Given the description of an element on the screen output the (x, y) to click on. 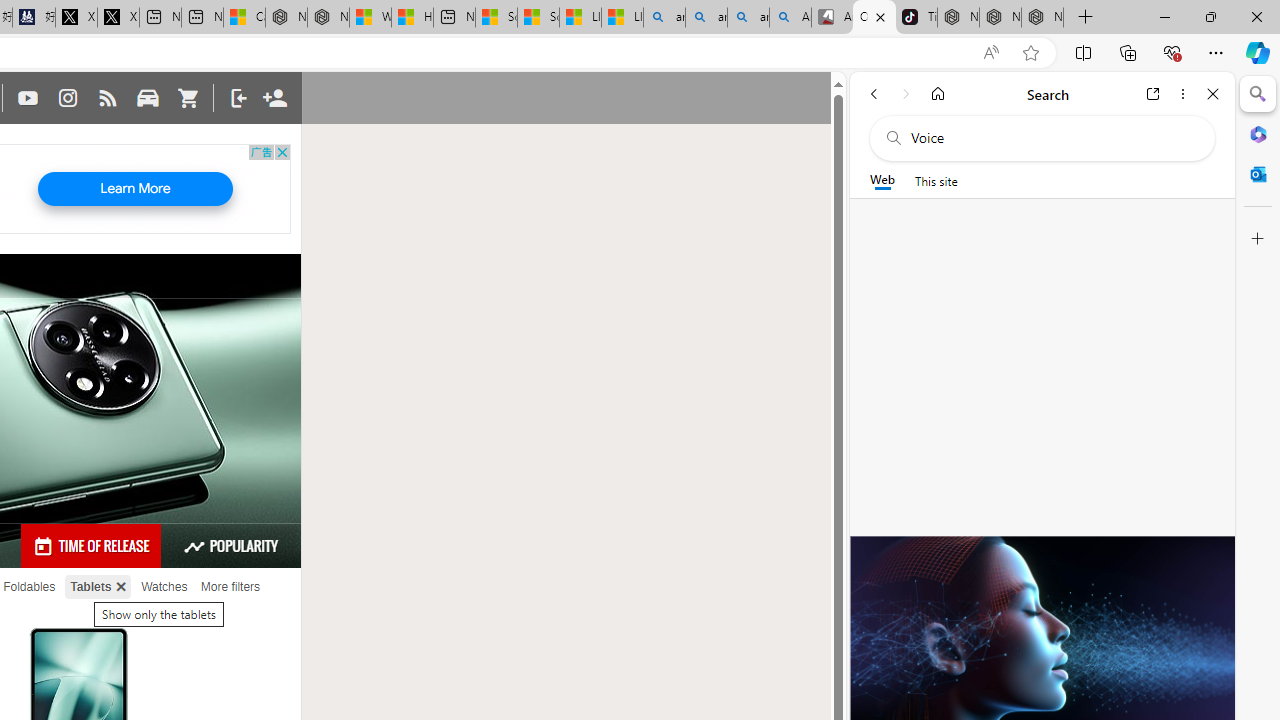
This site scope (936, 180)
Forward (906, 93)
